Given the description of an element on the screen output the (x, y) to click on. 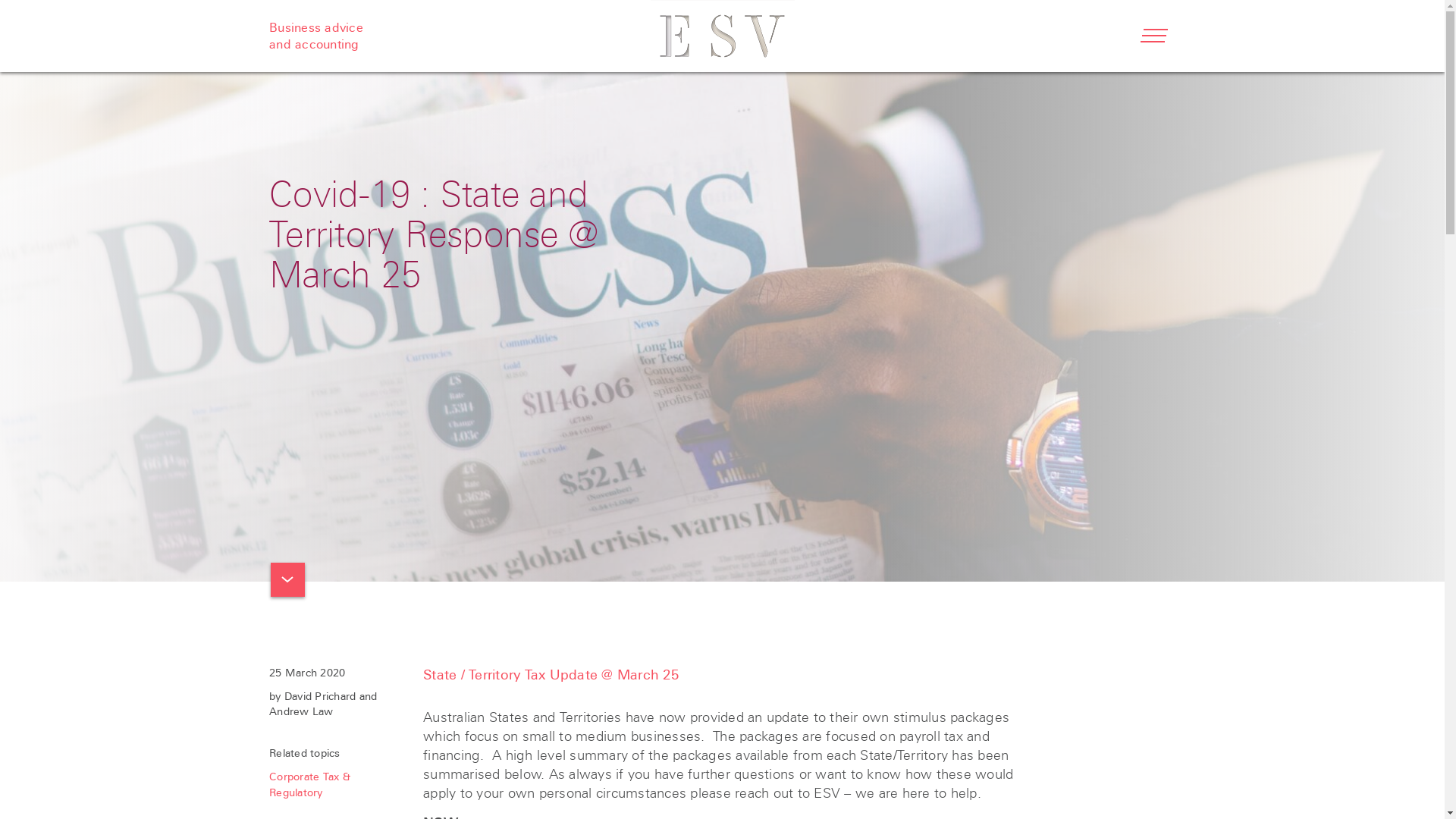
Corporate Tax & Regulatory Element type: text (309, 784)
